Given the description of an element on the screen output the (x, y) to click on. 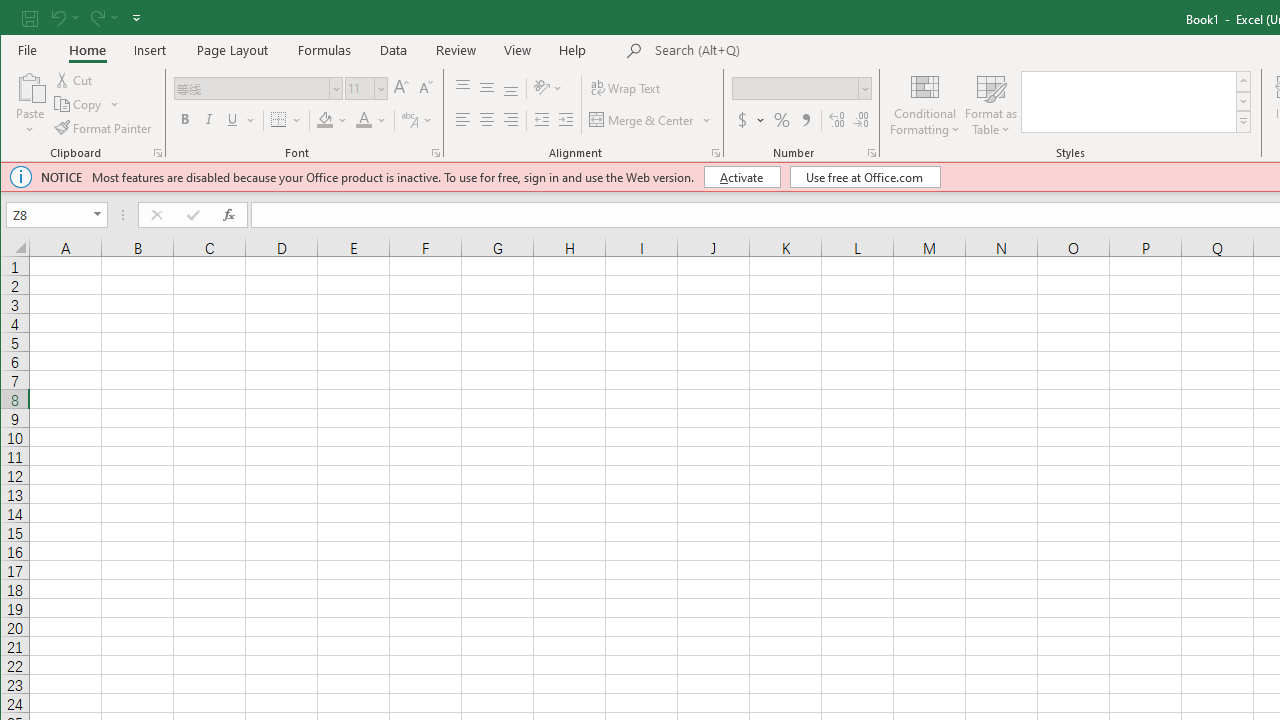
Font (251, 88)
Bottom Border (278, 119)
Format Cell Number (872, 152)
Conditional Formatting (925, 104)
Accounting Number Format (742, 119)
Top Align (462, 88)
Number Format (801, 88)
Underline (232, 119)
Align Right (511, 119)
Number Format (795, 88)
Bold (184, 119)
Format Painter (104, 127)
Increase Font Size (401, 88)
